Given the description of an element on the screen output the (x, y) to click on. 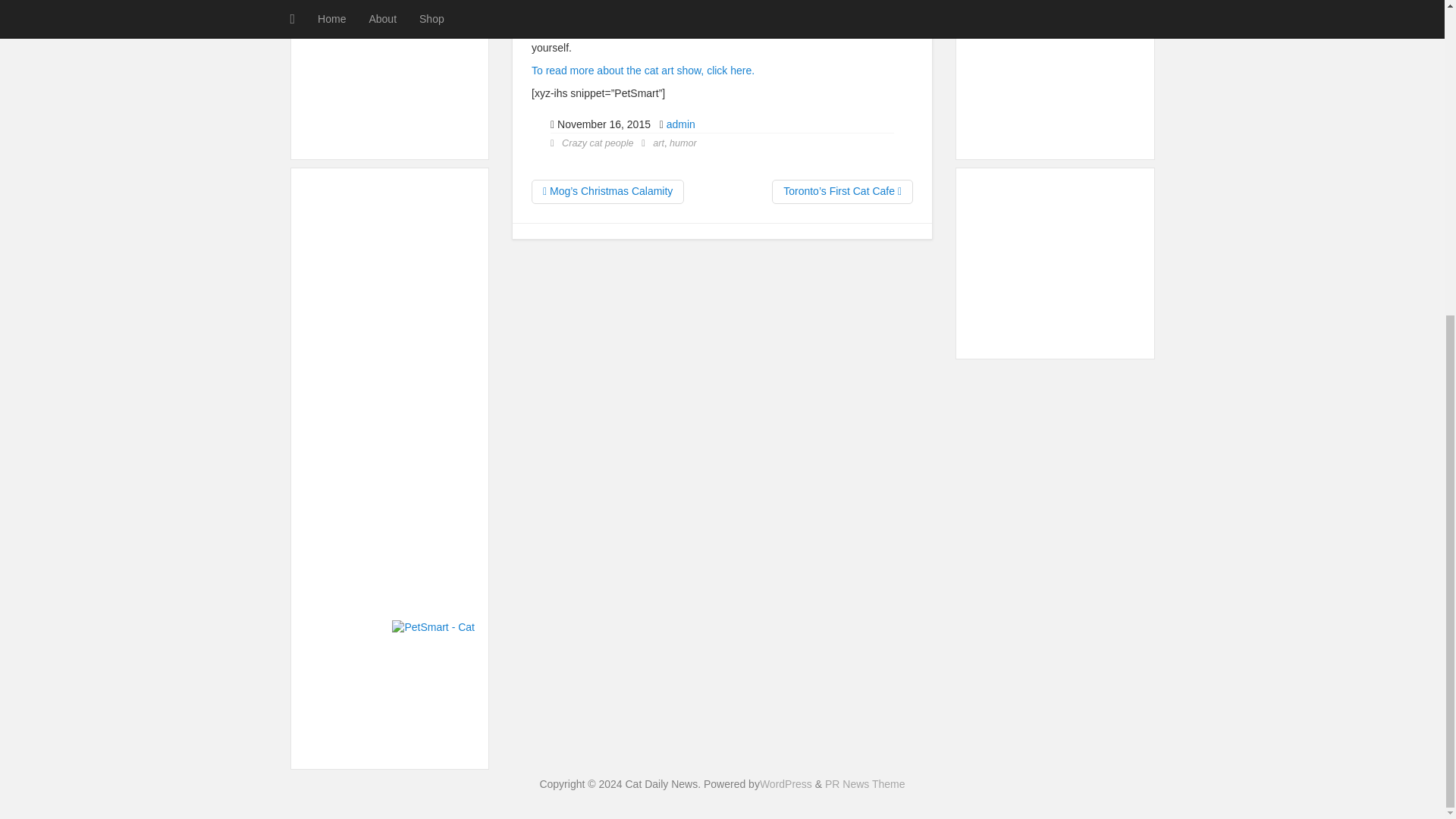
Crazy cat people (597, 143)
Posts by admin (680, 123)
To read more about the cat art show, click here. (642, 70)
PR News Theme (865, 784)
art (657, 143)
WordPress (786, 784)
PR News Theme (865, 784)
humor (683, 143)
admin (680, 123)
WordPress (786, 784)
